Given the description of an element on the screen output the (x, y) to click on. 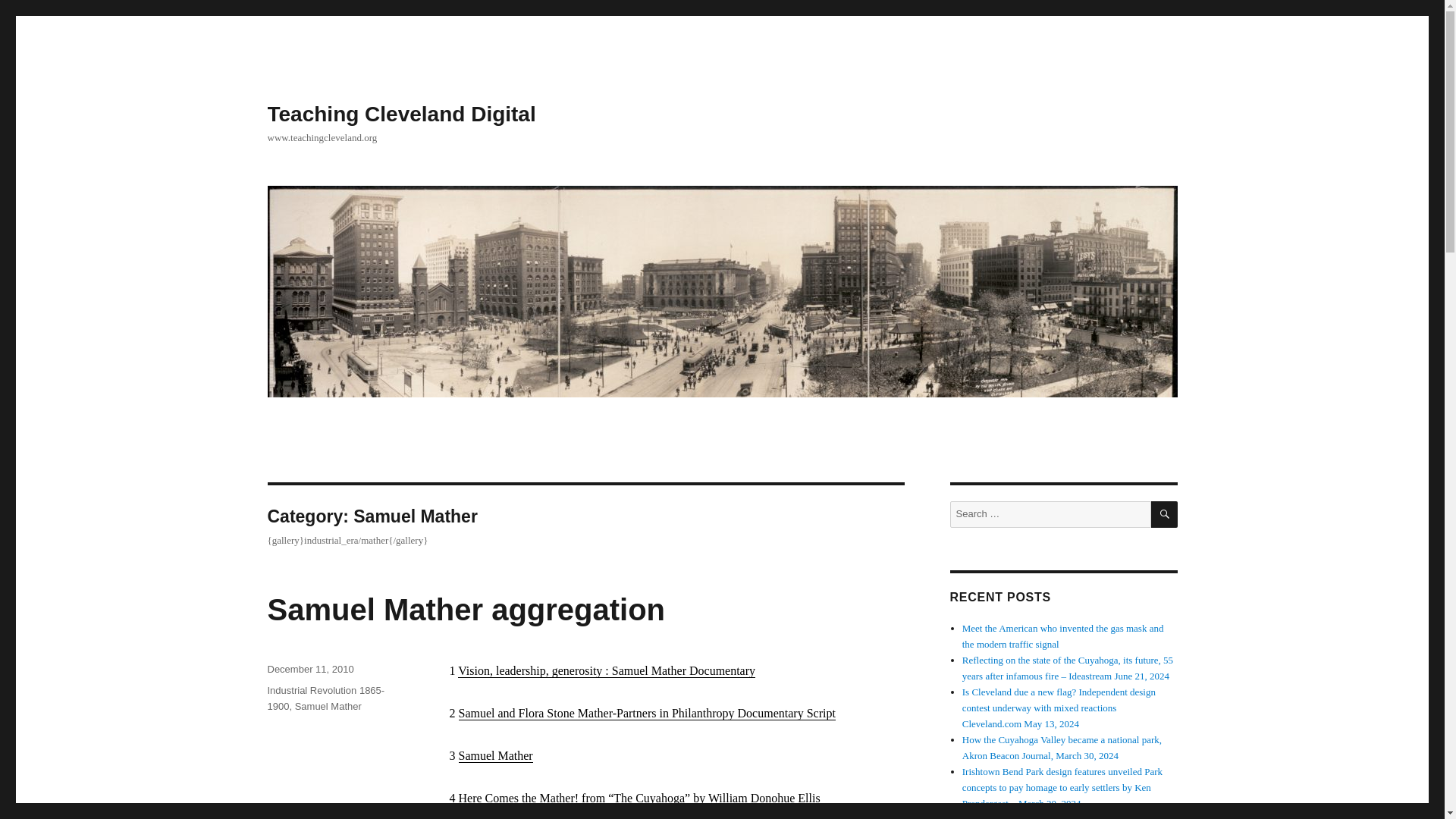
December 11, 2010 (309, 668)
Samuel Mather (328, 706)
Vision, leadership, generosity : Samuel Mather Documentary (606, 670)
Samuel Mather aggregation (465, 609)
Samuel Mather (495, 755)
Industrial Revolution 1865-1900 (325, 697)
Teaching Cleveland Digital (400, 114)
